Given the description of an element on the screen output the (x, y) to click on. 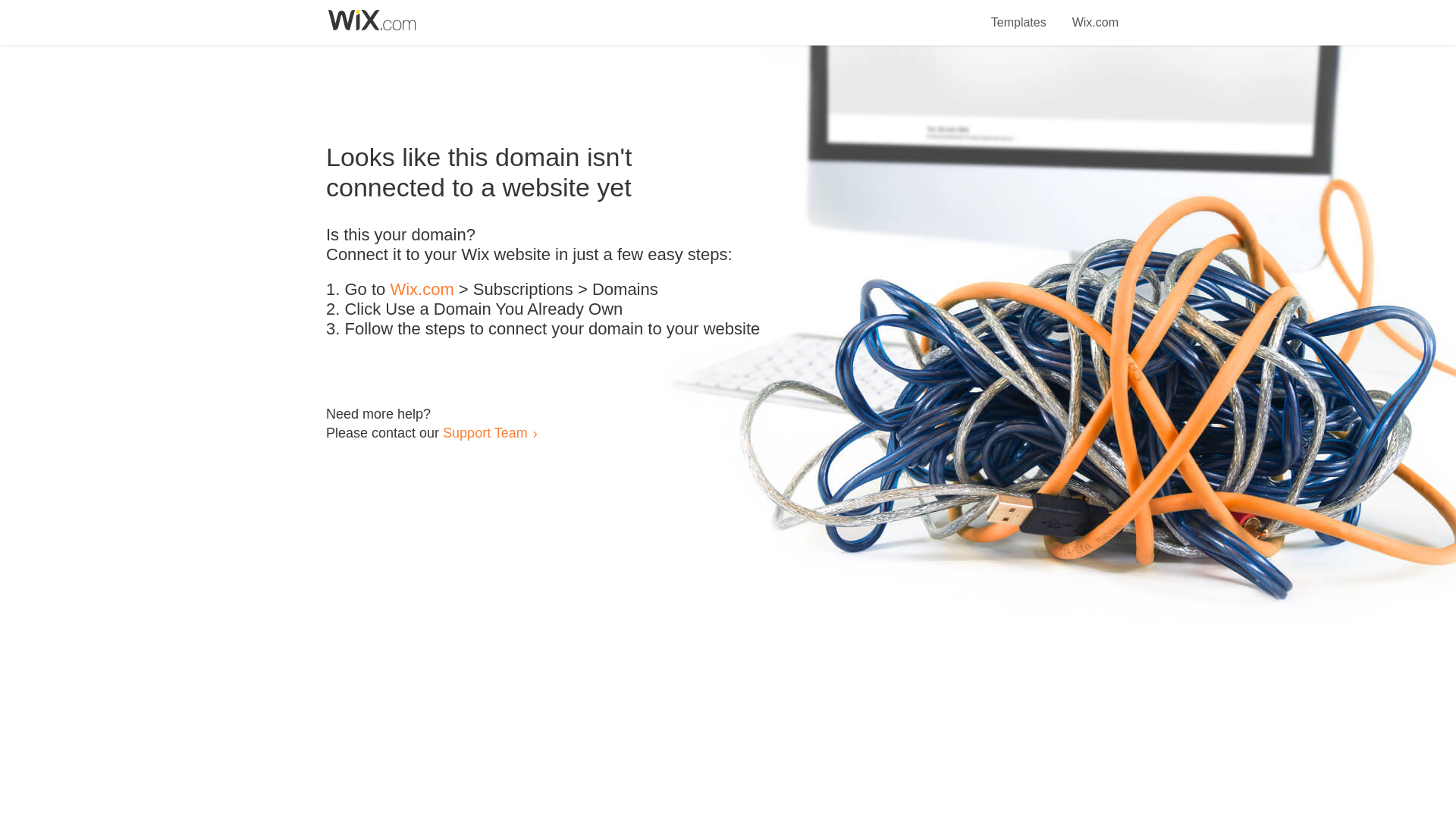
Wix.com (1095, 14)
Templates (1018, 14)
Support Team (484, 432)
Wix.com (421, 289)
